Given the description of an element on the screen output the (x, y) to click on. 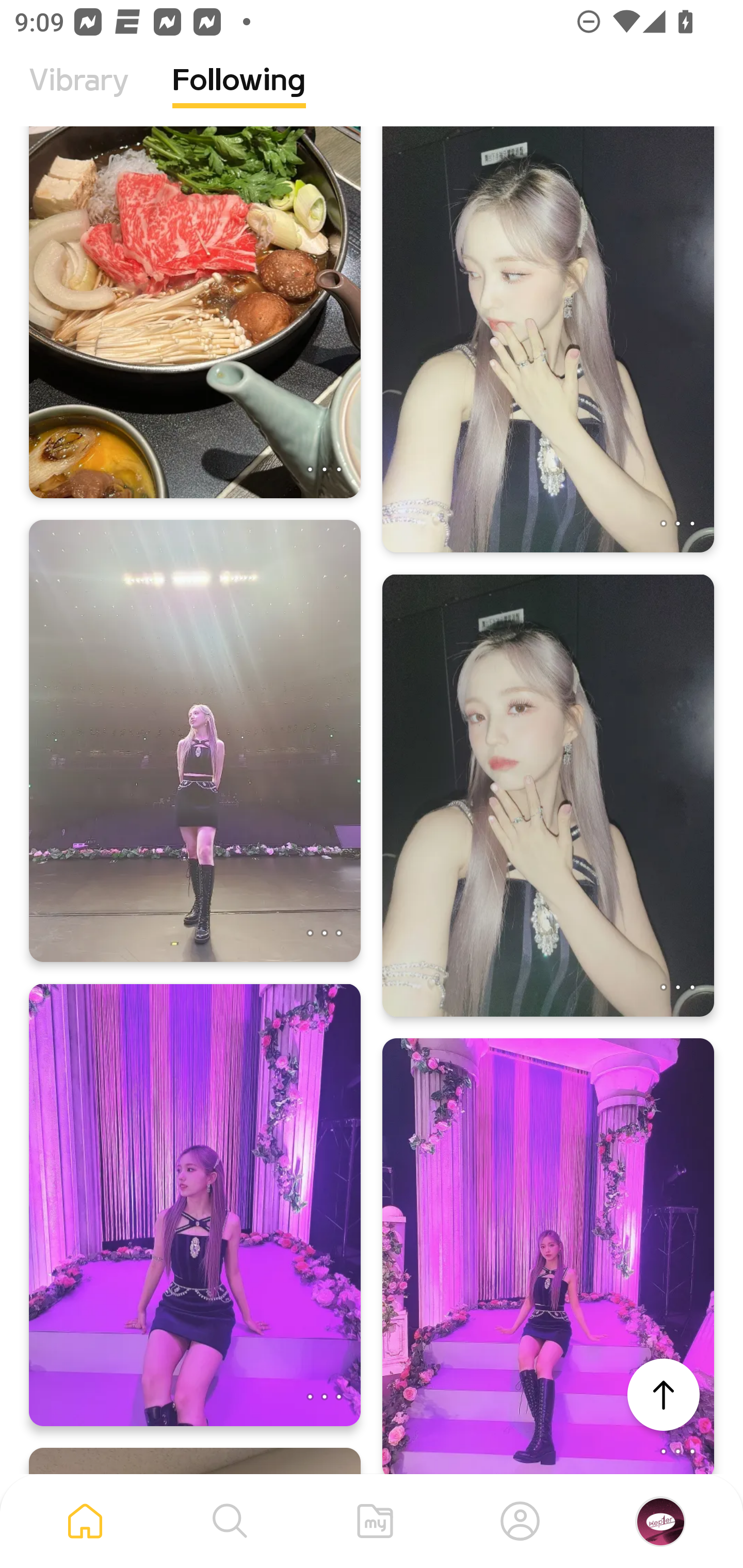
Vibrary (78, 95)
Following (239, 95)
